Given the description of an element on the screen output the (x, y) to click on. 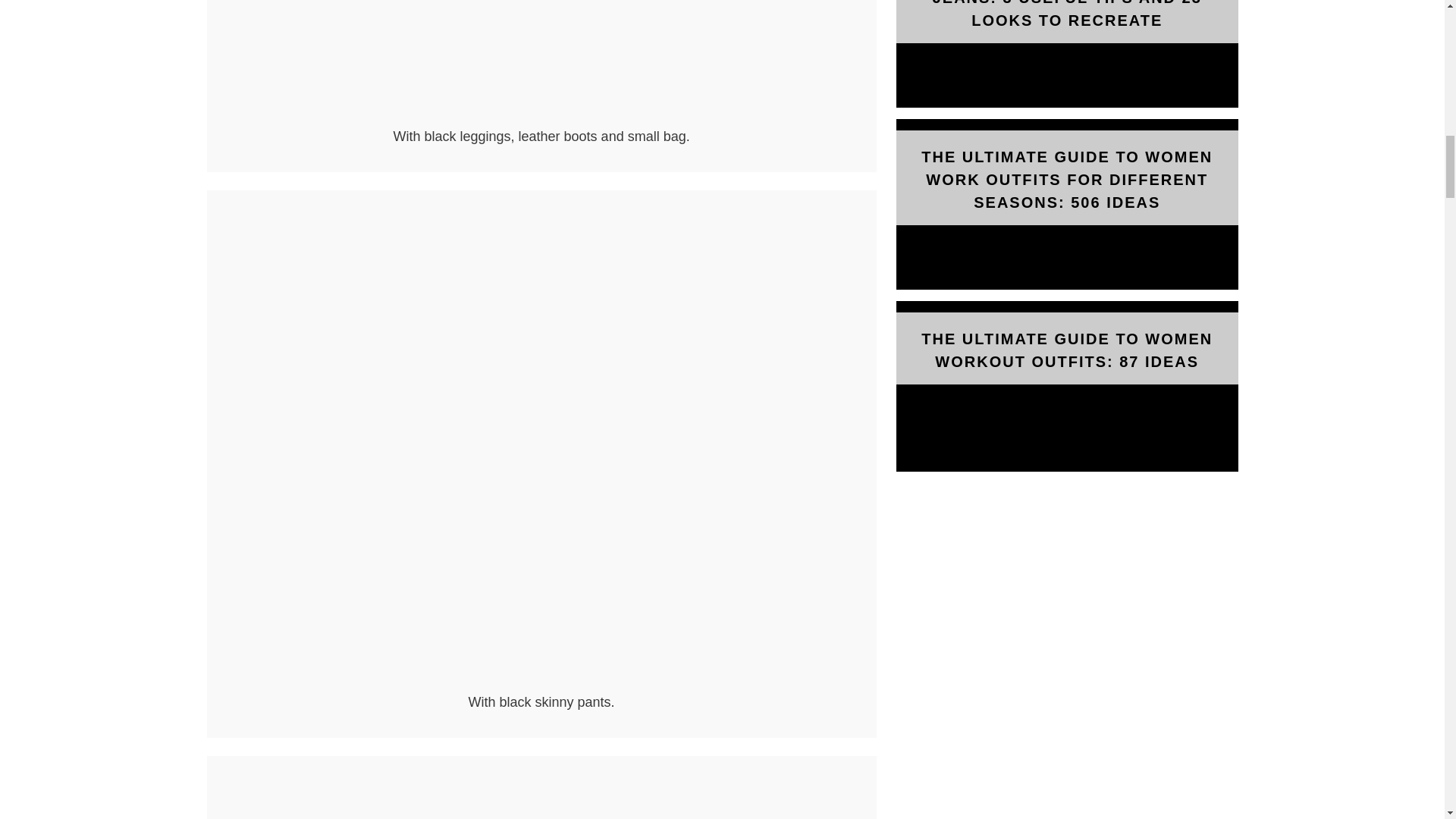
With black leggings, leather boots and small bag (541, 60)
With black skinny pants (541, 682)
With black leggings, leather boots and small bag (541, 116)
